Given the description of an element on the screen output the (x, y) to click on. 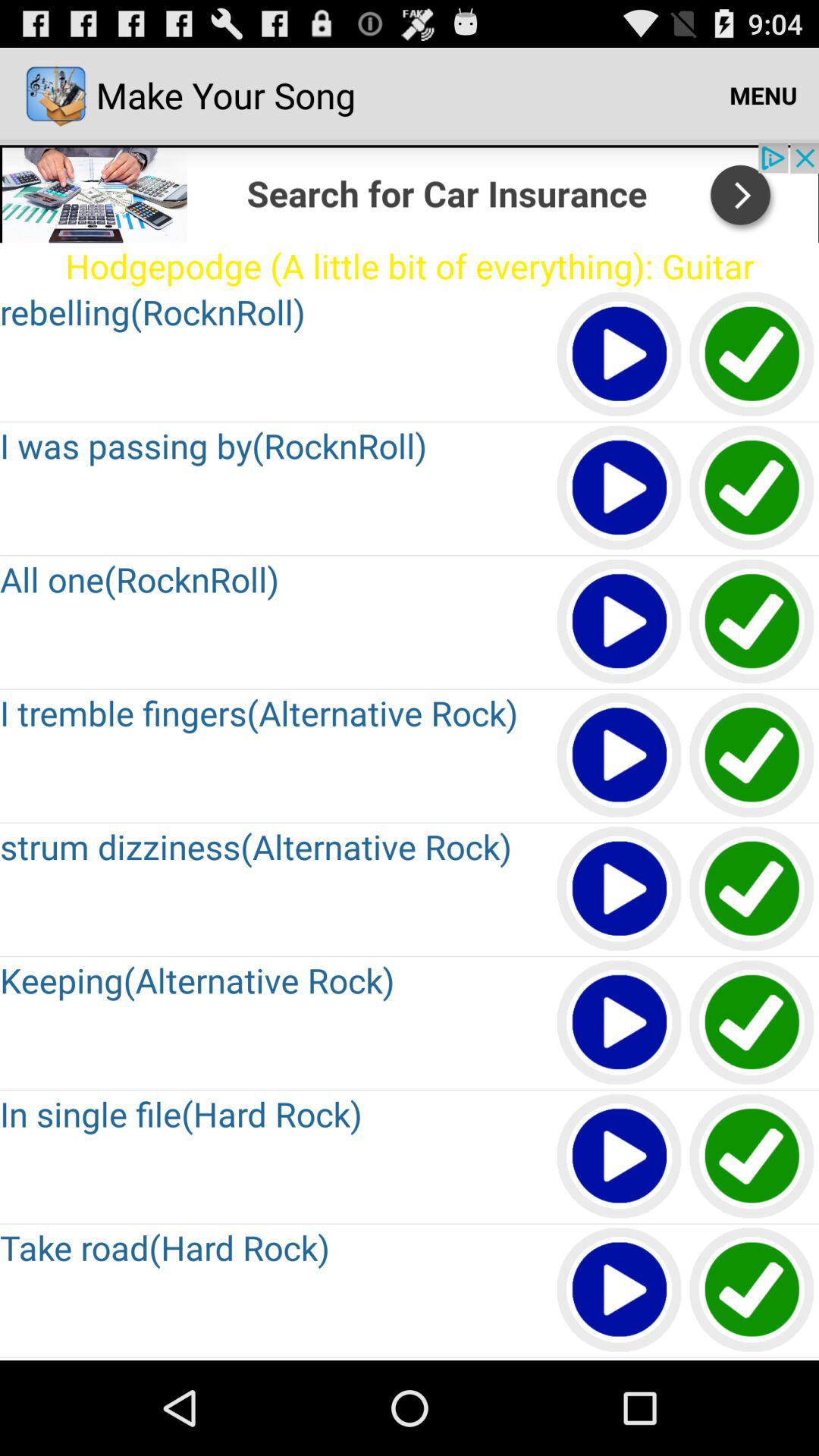
go to play (752, 889)
